Given the description of an element on the screen output the (x, y) to click on. 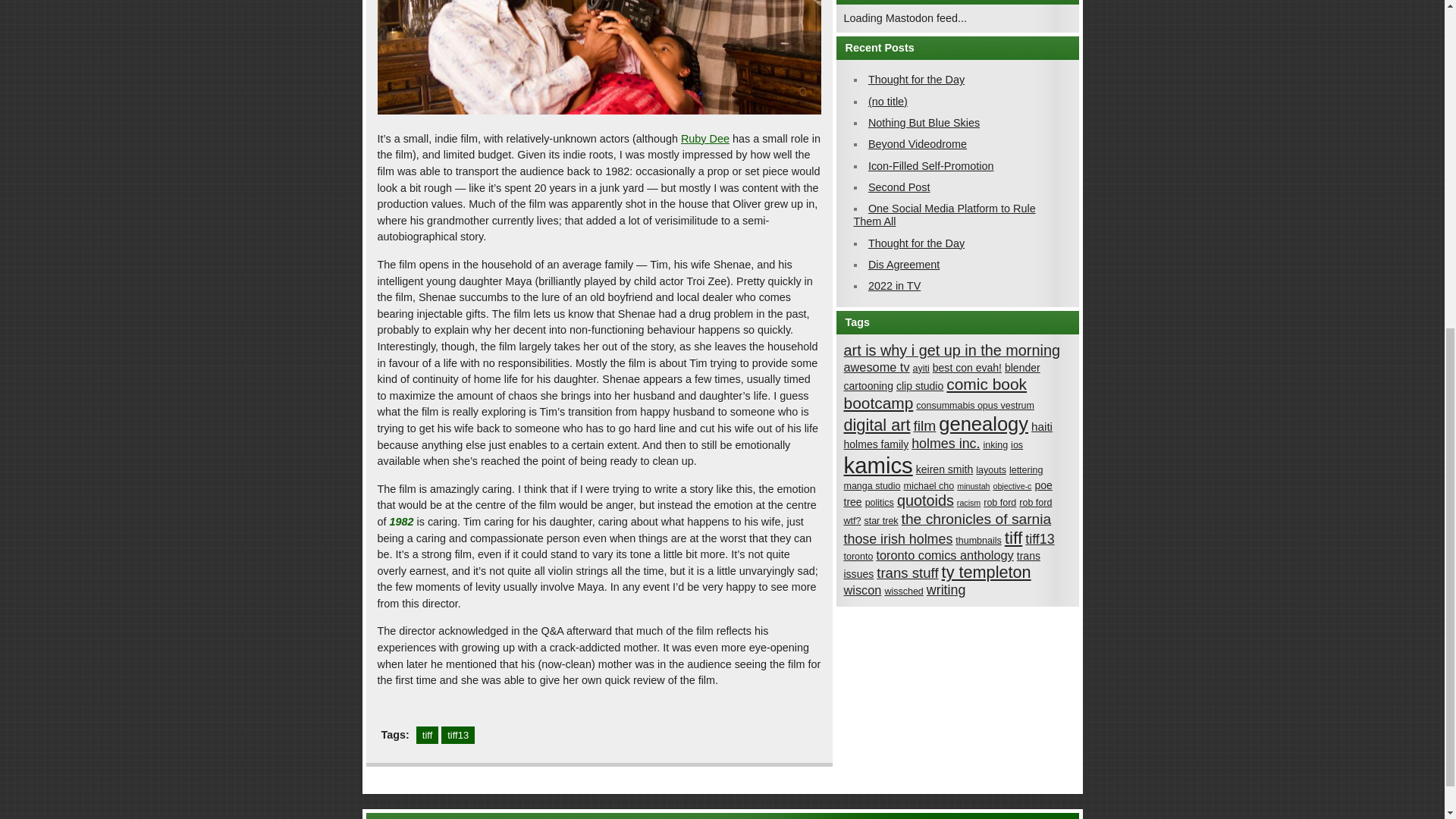
art is why i get up in the morning (951, 350)
cartooning (867, 386)
awesome tv (875, 366)
tiff13 (457, 734)
best con evah! (967, 367)
Second Post (898, 186)
comic book bootcamp (934, 393)
Ruby Dee (705, 138)
Beyond Videodrome (916, 143)
consummabis opus vestrum (974, 405)
Dis Agreement (903, 264)
2022 in TV (893, 285)
ayiti (921, 368)
Thought for the Day (915, 79)
One Social Media Platform to Rule Them All (944, 214)
